Given the description of an element on the screen output the (x, y) to click on. 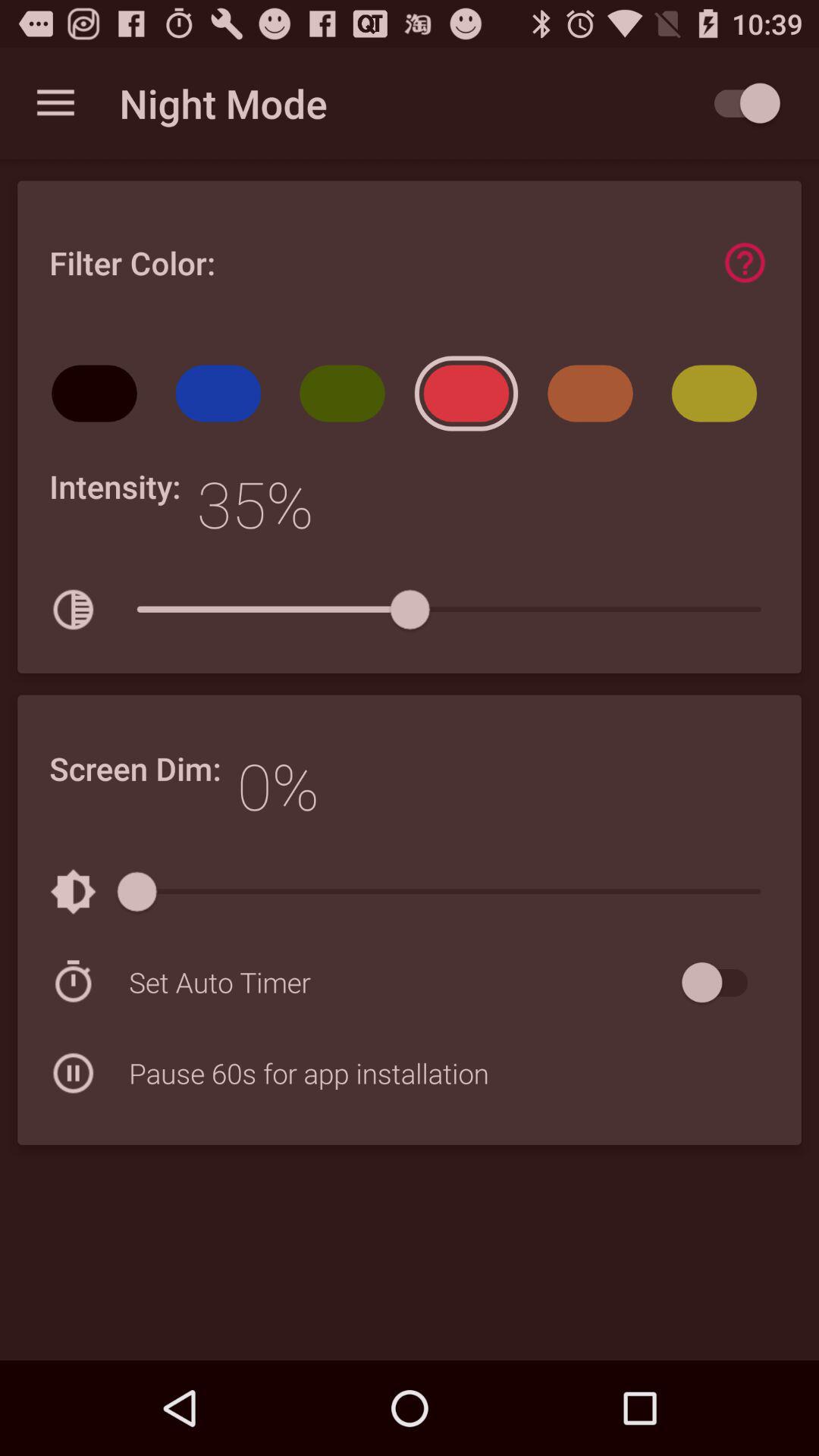
press the item above 35% icon (347, 398)
